Given the description of an element on the screen output the (x, y) to click on. 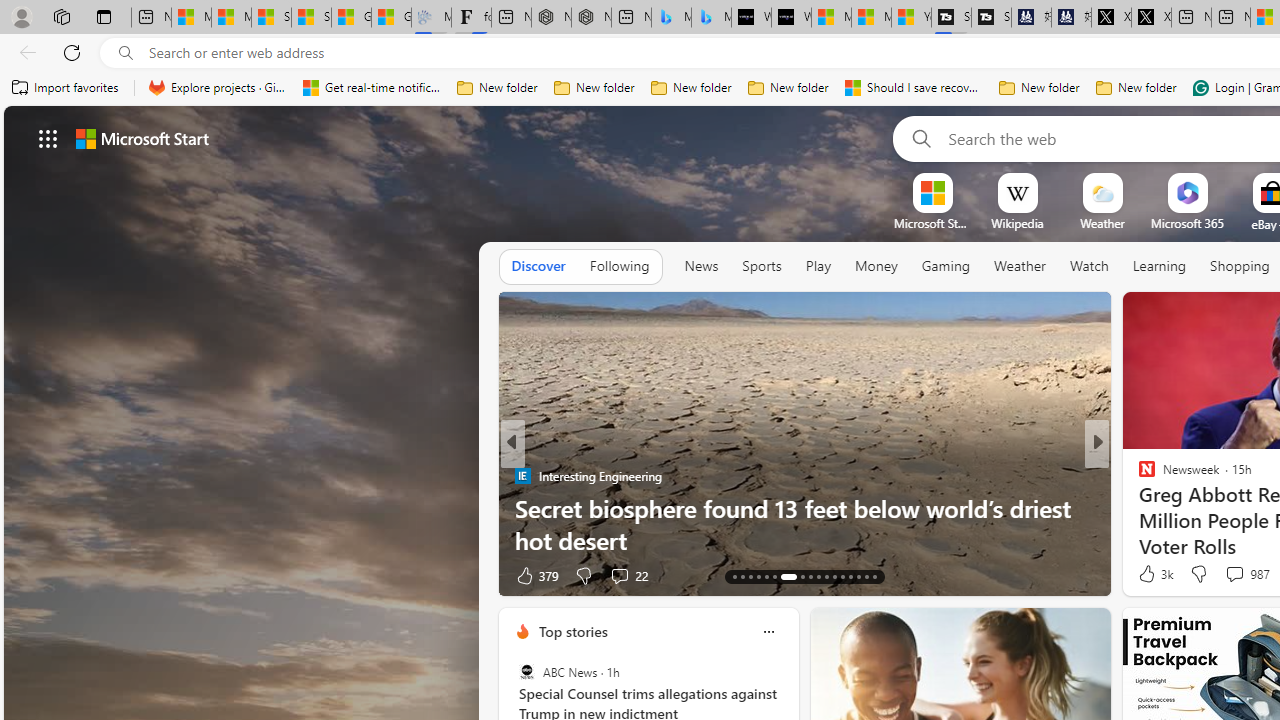
View comments 85 Comment (1229, 575)
View comments 85 Comment (1237, 574)
Wikipedia (1017, 223)
79 Like (1149, 574)
Microsoft Bing Travel - Stays in Bangkok, Bangkok, Thailand (671, 17)
3k Like (1154, 574)
AutomationID: tab-26 (850, 576)
45 Like (1149, 574)
AutomationID: tab-22 (818, 576)
